Given the description of an element on the screen output the (x, y) to click on. 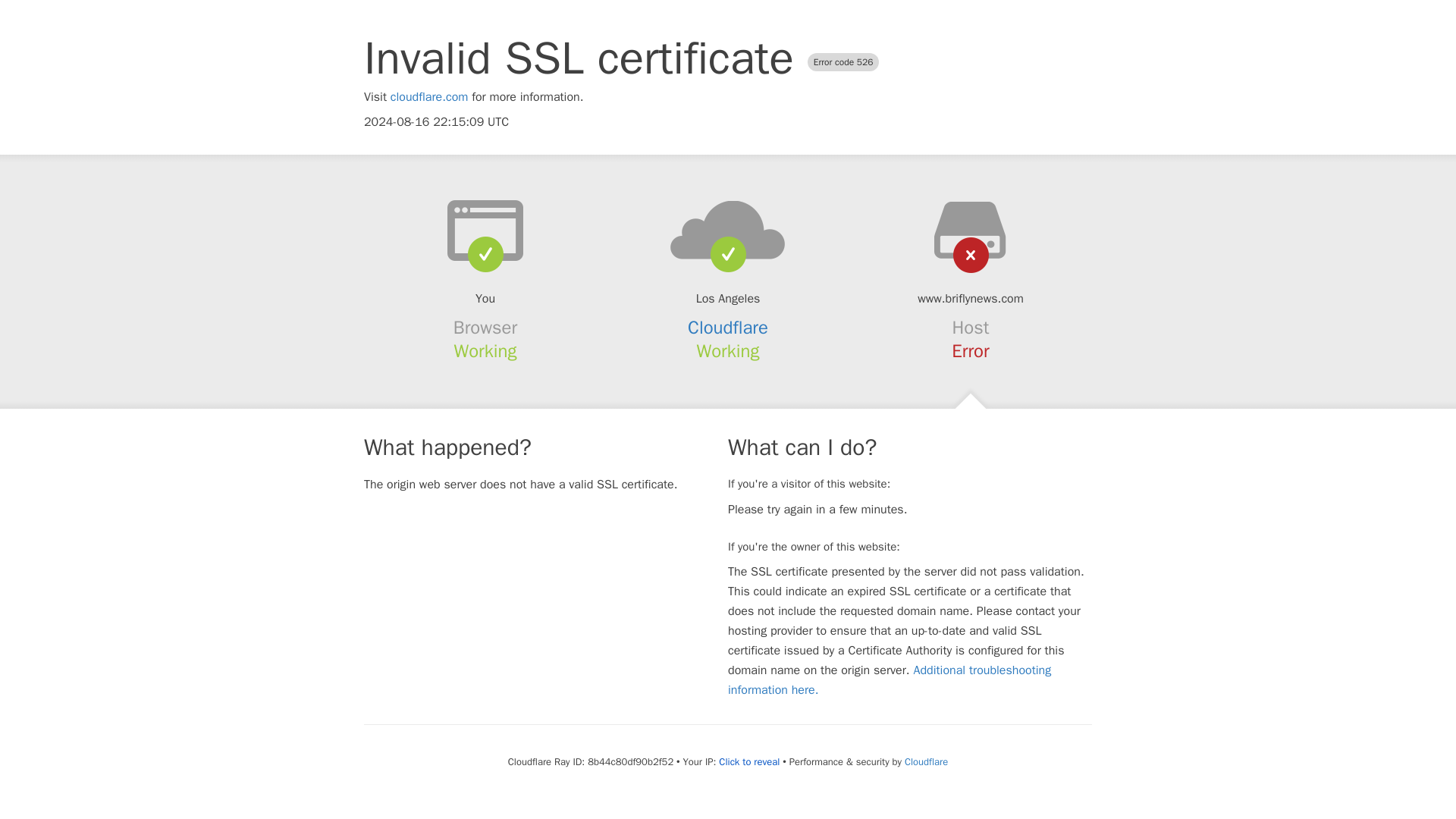
Additional troubleshooting information here. (889, 679)
Cloudflare (925, 761)
Cloudflare (727, 327)
cloudflare.com (429, 96)
Click to reveal (748, 762)
